Given the description of an element on the screen output the (x, y) to click on. 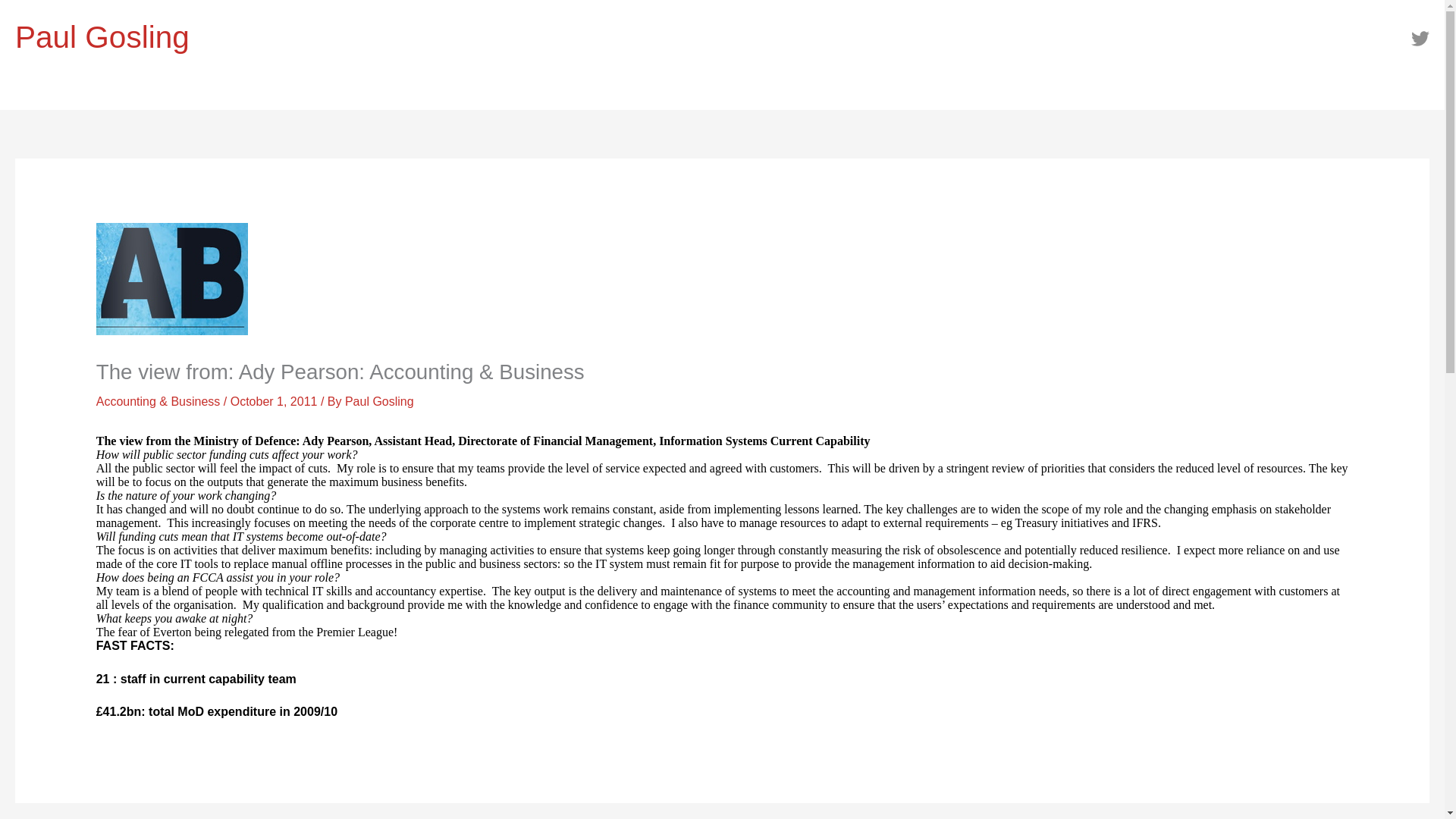
HOME (49, 92)
BIOGRAPHY (248, 92)
CONTACT (576, 92)
SERVICES (474, 92)
ARTICLES (138, 92)
Paul Gosling (101, 36)
View all posts by Paul Gosling (379, 400)
MY BOOKS (360, 92)
